Given the description of an element on the screen output the (x, y) to click on. 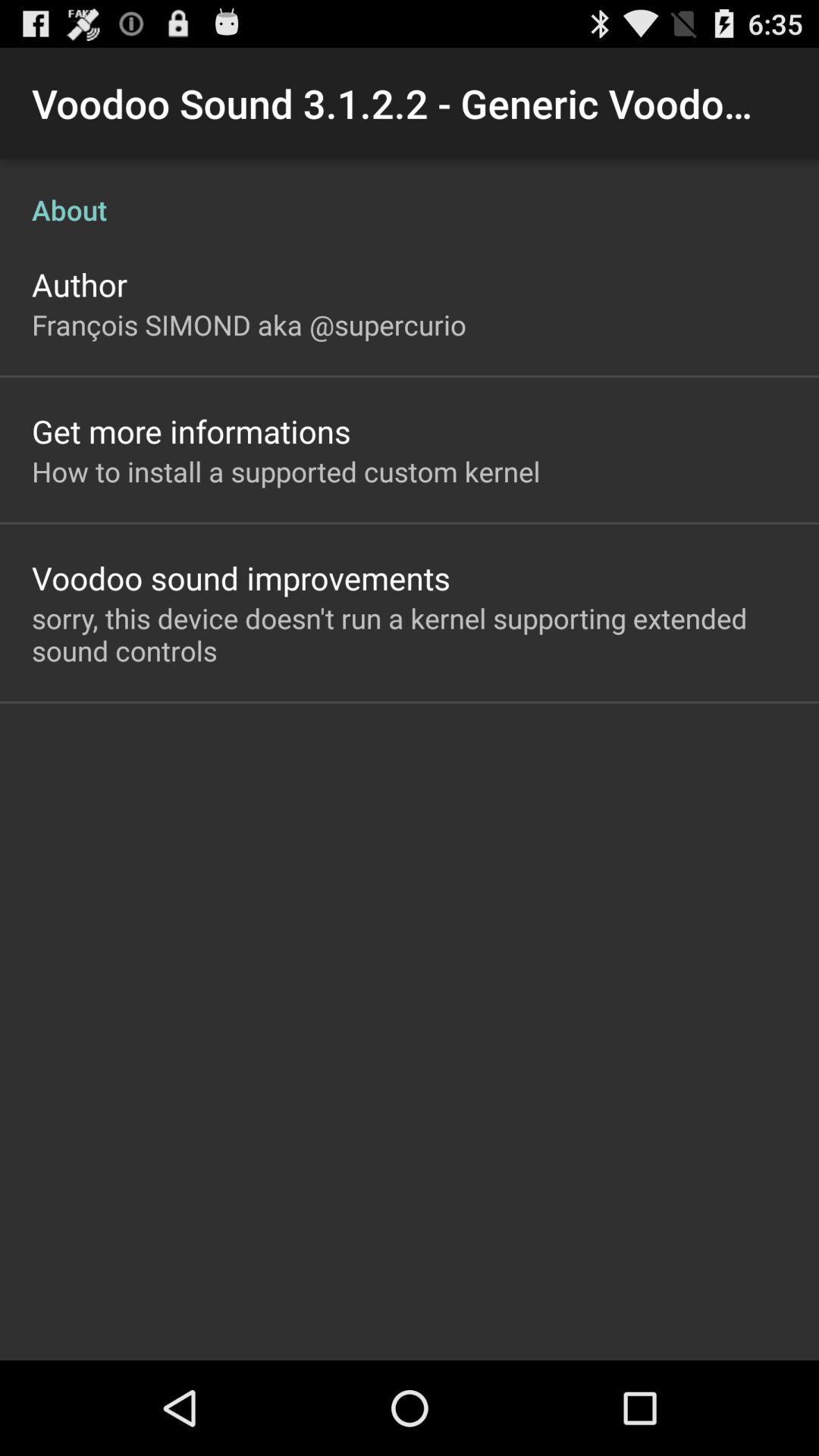
flip to the sorry this device app (409, 634)
